Given the description of an element on the screen output the (x, y) to click on. 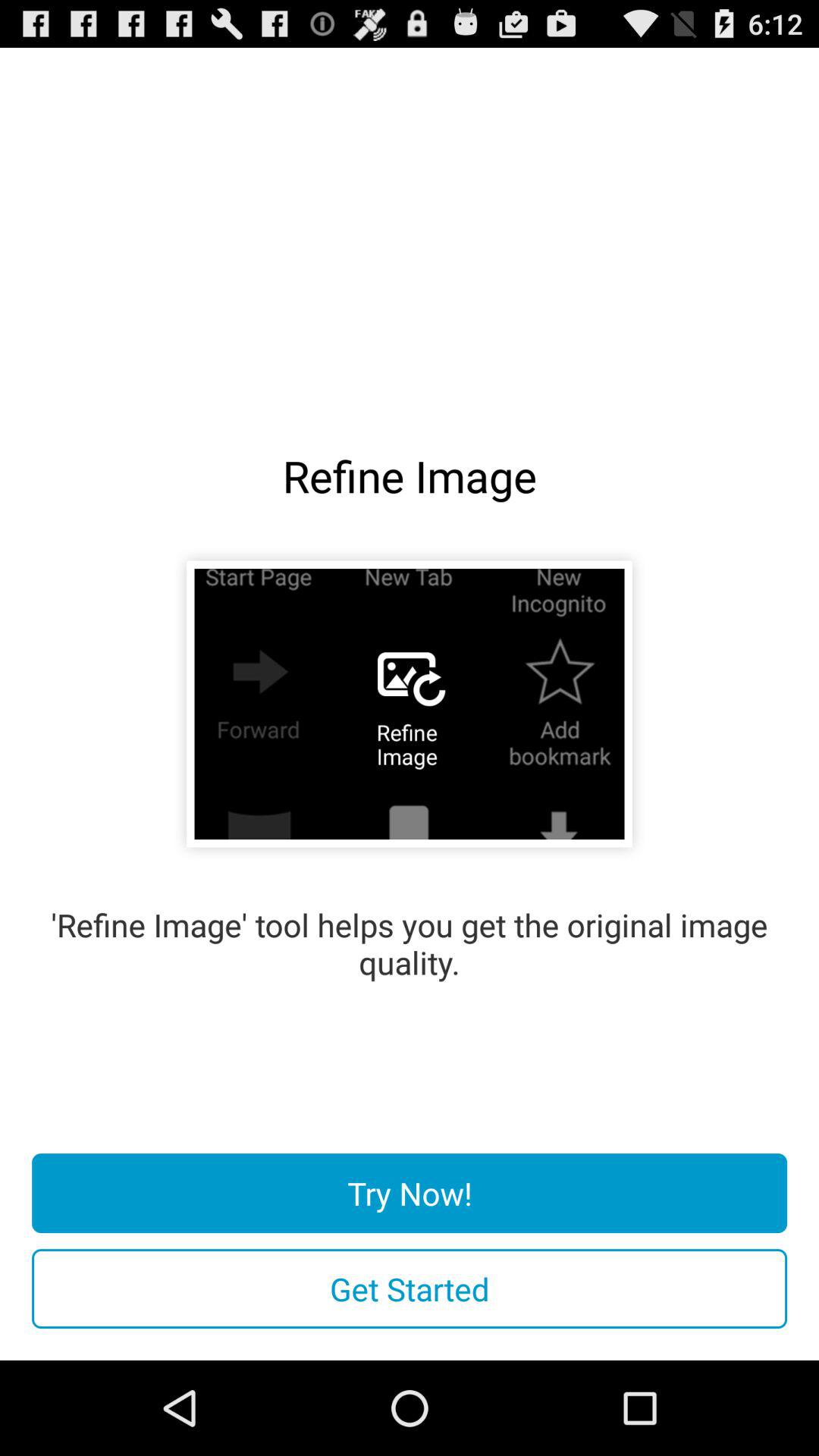
jump to get started icon (409, 1288)
